Given the description of an element on the screen output the (x, y) to click on. 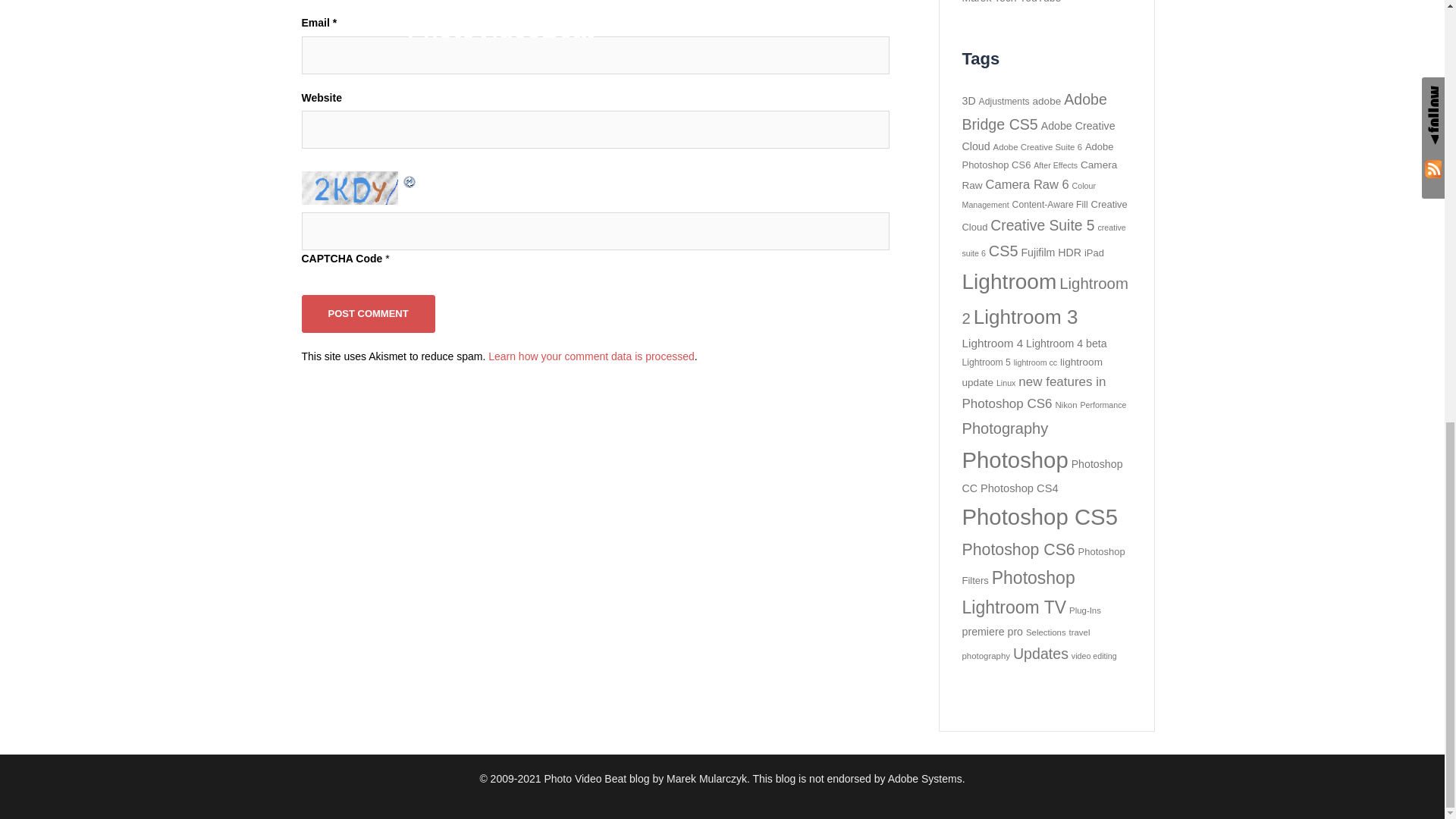
Post Comment (368, 313)
3D (967, 101)
Marek Tech YouTube (1010, 2)
Adobe Creative Suite 6 (1036, 146)
Learn how your comment data is processed (590, 356)
Post Comment (368, 313)
Adjustments (1003, 101)
After Effects (1055, 164)
Adobe Photoshop CS6 (1036, 155)
Refresh (410, 179)
Adobe Bridge CS5 (1033, 111)
Camera Raw (1038, 174)
adobe (1046, 101)
CAPTCHA (351, 187)
Adobe Creative Cloud (1037, 135)
